Given the description of an element on the screen output the (x, y) to click on. 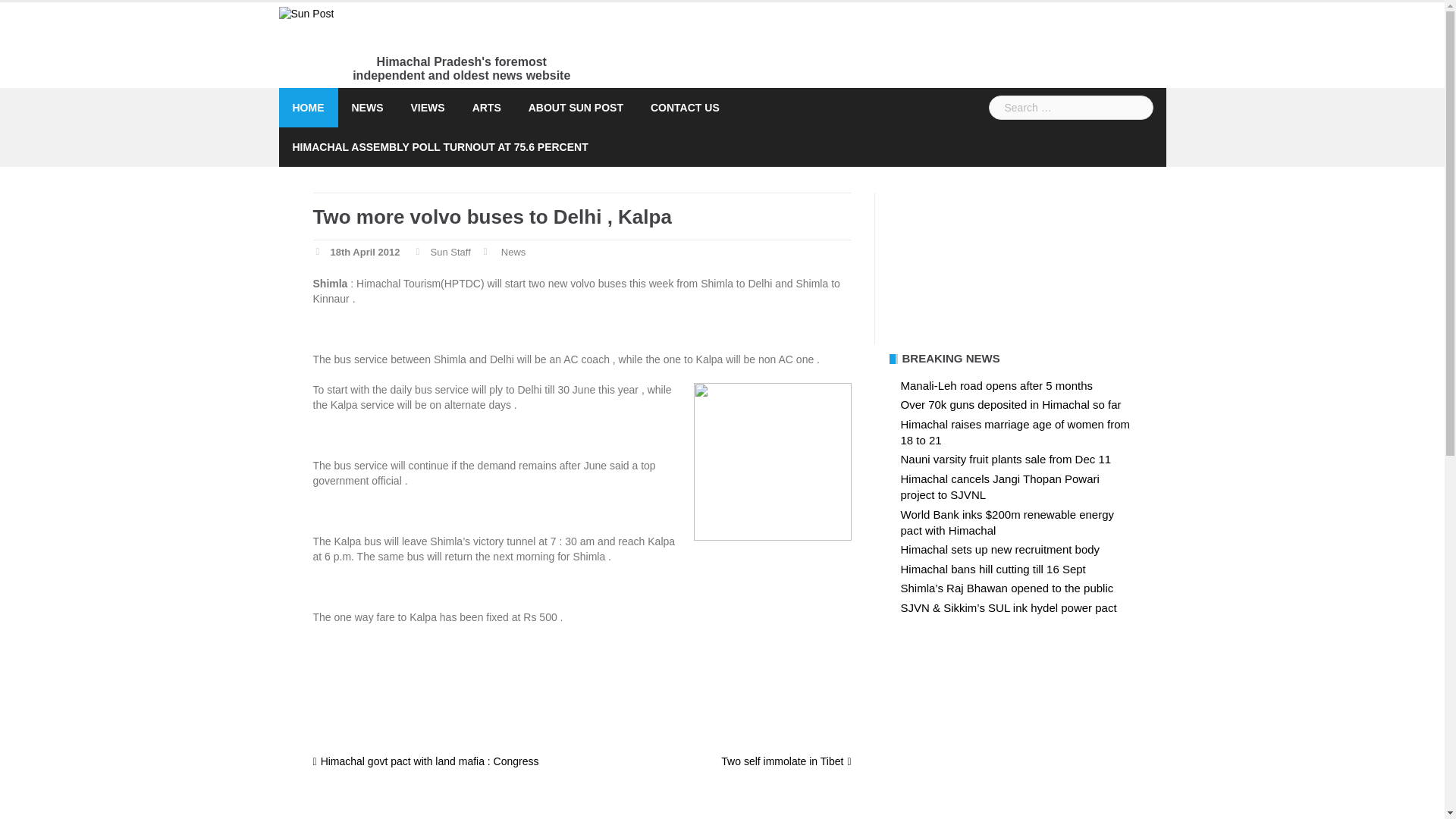
Himachal raises marriage age of women from 18 to 21 (1016, 431)
News (512, 252)
Nauni varsity fruit plants sale from Dec 11 (1006, 459)
Himachal cancels Jangi Thopan Powari project to SJVNL (1000, 486)
HIMACHAL ASSEMBLY POLL TURNOUT AT 75.6 PERCENT (440, 147)
Sun Staff (450, 252)
18th April 2012 (365, 252)
Himachal govt pact with land mafia : Congress (425, 761)
Two self immolate in Tibet (785, 761)
Sun Post (306, 13)
Over 70k guns deposited in Himachal so far (1011, 404)
Himachal bans hill cutting till 16 Sept (993, 568)
Himachal sets up new recruitment body (1000, 549)
volvo bus (771, 461)
CONTACT US (684, 107)
